Given the description of an element on the screen output the (x, y) to click on. 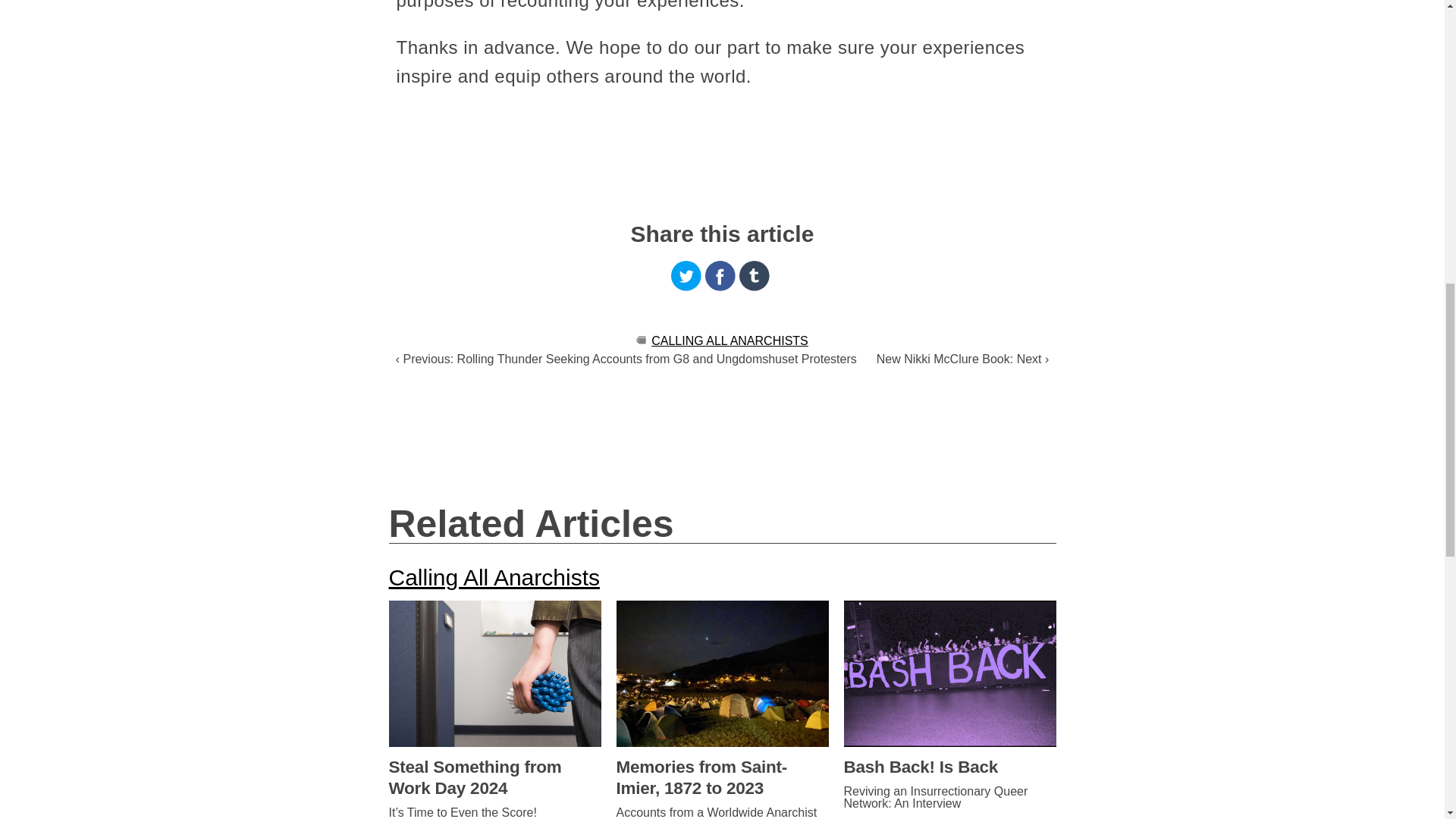
Memories from Saint-Imier, 1872 to 2023 (721, 777)
Bash Back! Is Back (949, 767)
CALLING ALL ANARCHISTS (729, 340)
Share on Twitter (686, 276)
Share on Facebook (719, 276)
Calling All Anarchists (493, 577)
Share on Tumblr (754, 276)
Reviving an Insurrectionary Queer Network: An Interview (949, 797)
Steal Something from Work Day 2024 (493, 777)
Accounts from a Worldwide Anarchist Gathering (721, 812)
